Given the description of an element on the screen output the (x, y) to click on. 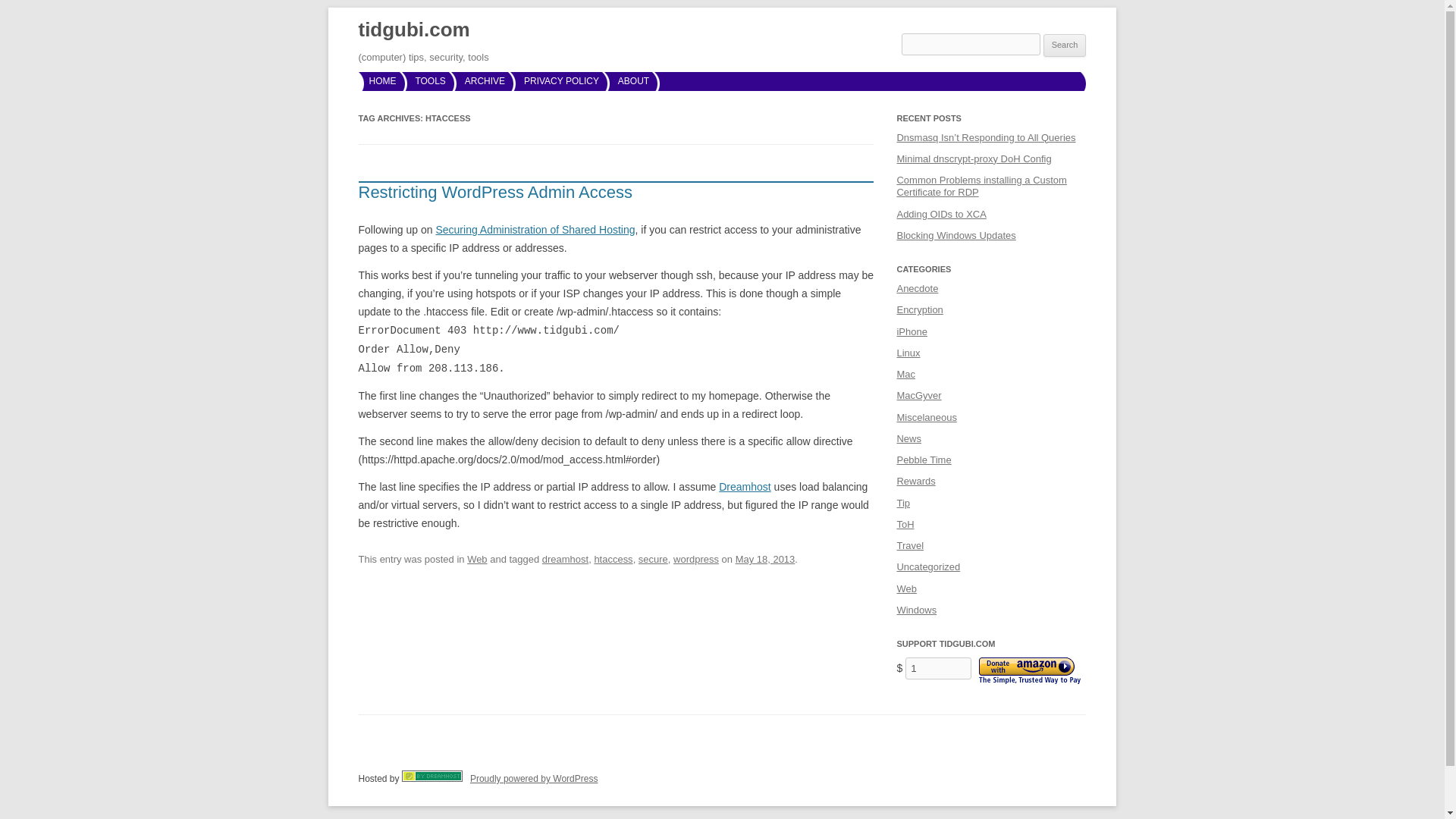
Blocking Windows Updates (955, 235)
Skip to content (812, 17)
TOOLS (429, 81)
tidgubi.com (413, 30)
1 (938, 668)
Common Problems installing a Custom Certificate for RDP (980, 186)
Semantic Personal Publishing Platform (534, 778)
Encryption (919, 309)
secure (653, 559)
ARCHIVE (484, 81)
